Given the description of an element on the screen output the (x, y) to click on. 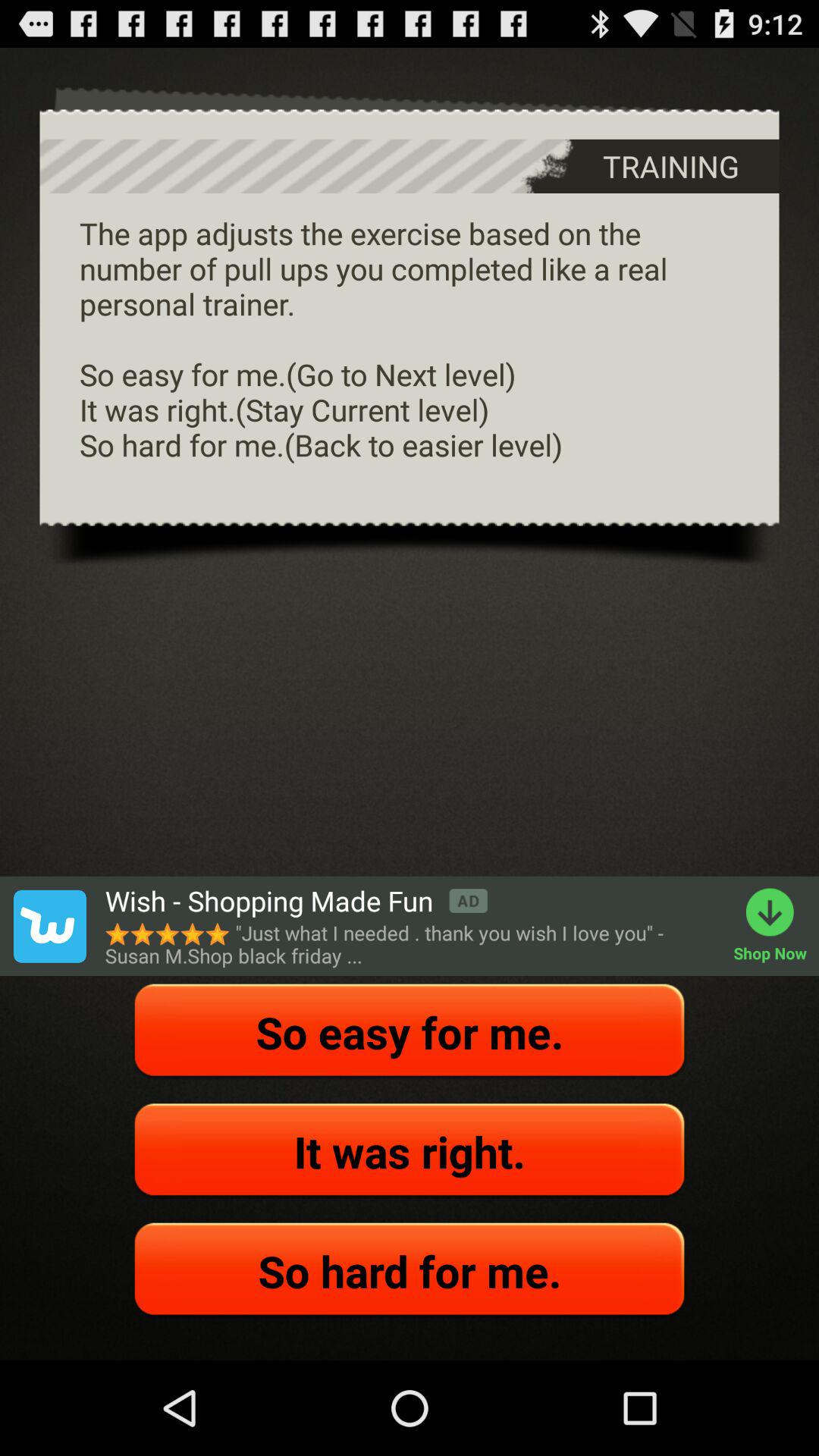
open advertisement website (49, 925)
